Given the description of an element on the screen output the (x, y) to click on. 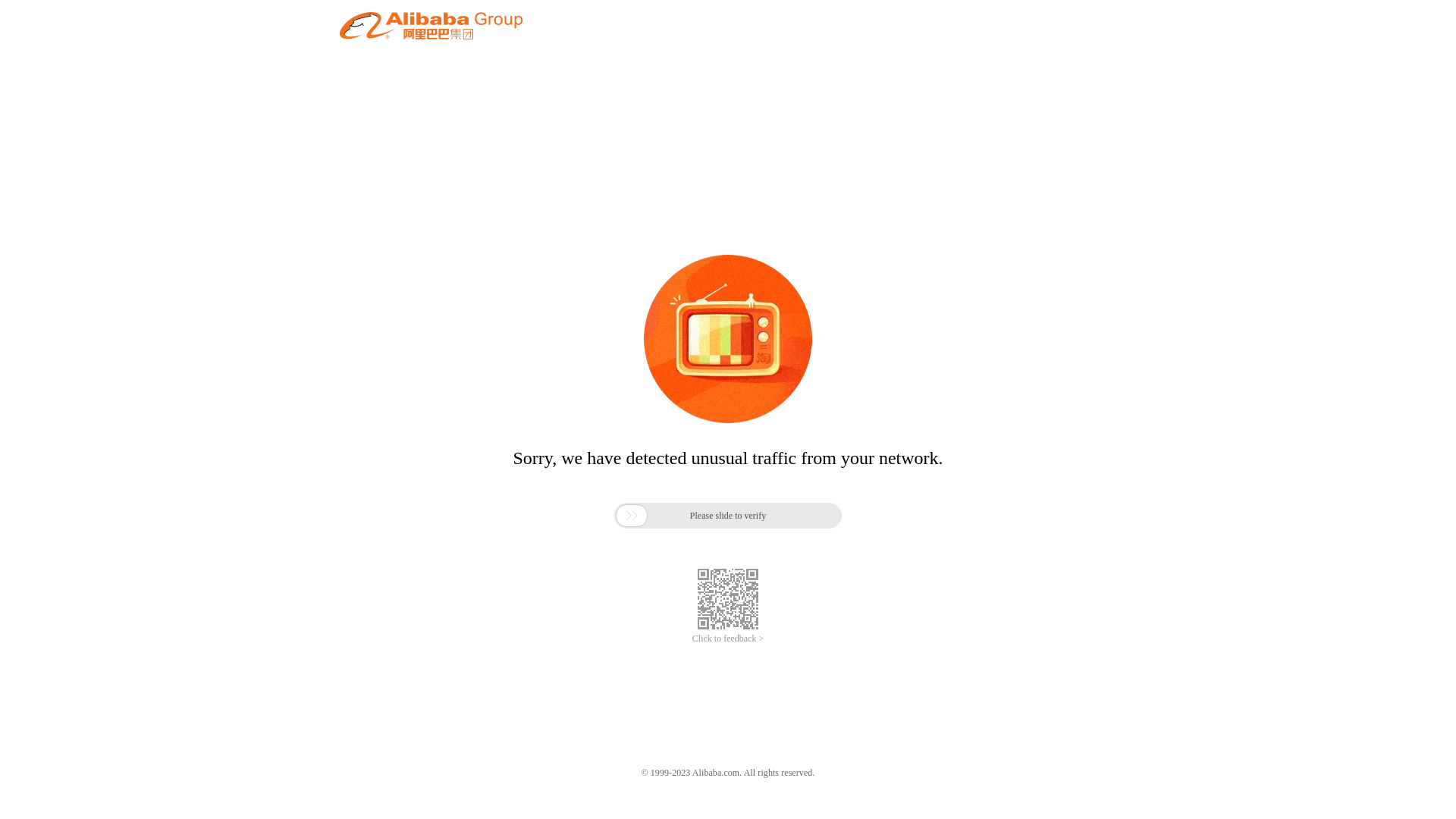
Click to feedback > Element type: text (727, 638)
